Given the description of an element on the screen output the (x, y) to click on. 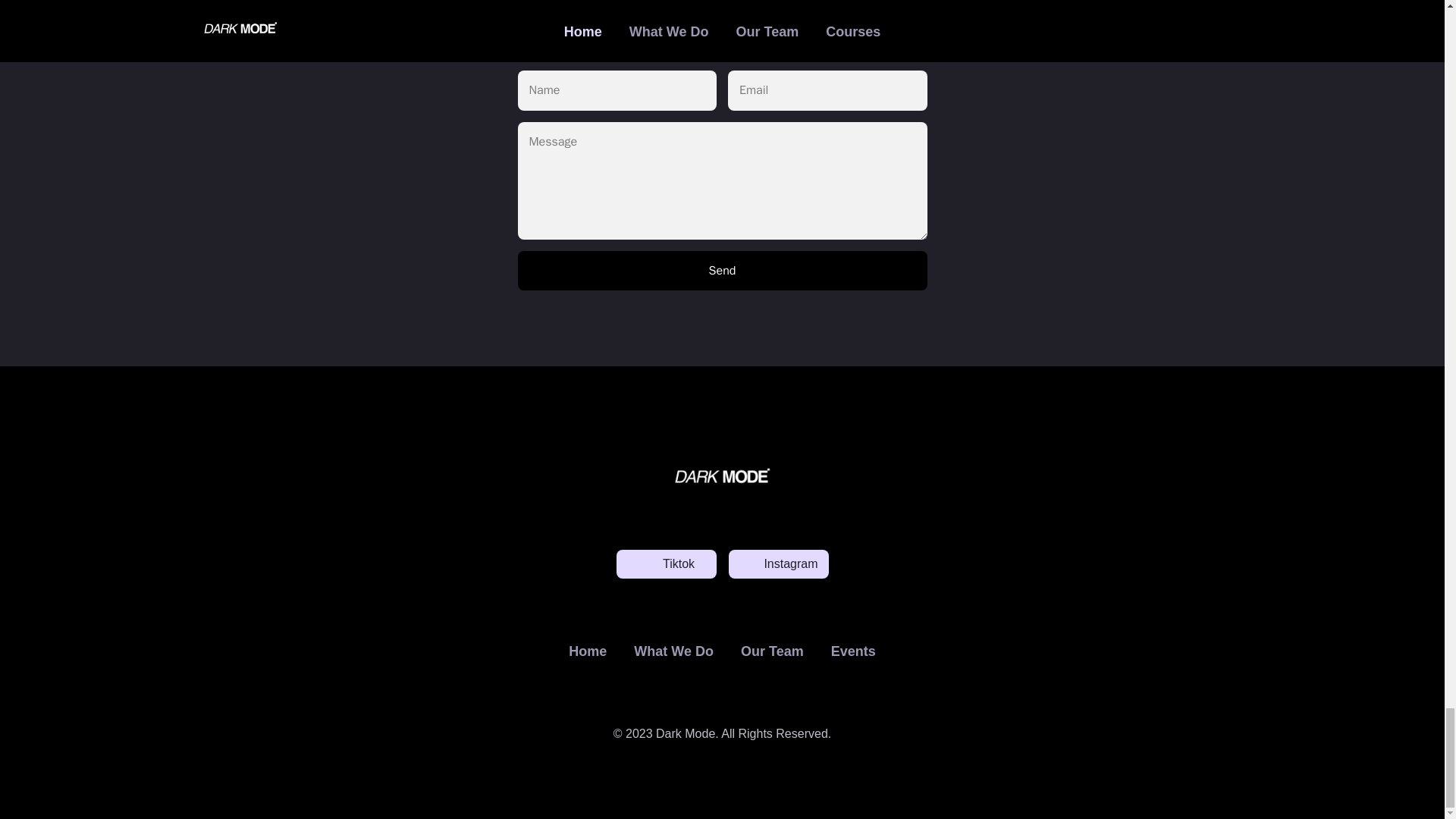
Home (587, 651)
Our Team (772, 651)
Send (721, 270)
What We Do (673, 651)
Instagram (778, 563)
Send (721, 270)
Tiktok (665, 563)
Events (853, 651)
